Given the description of an element on the screen output the (x, y) to click on. 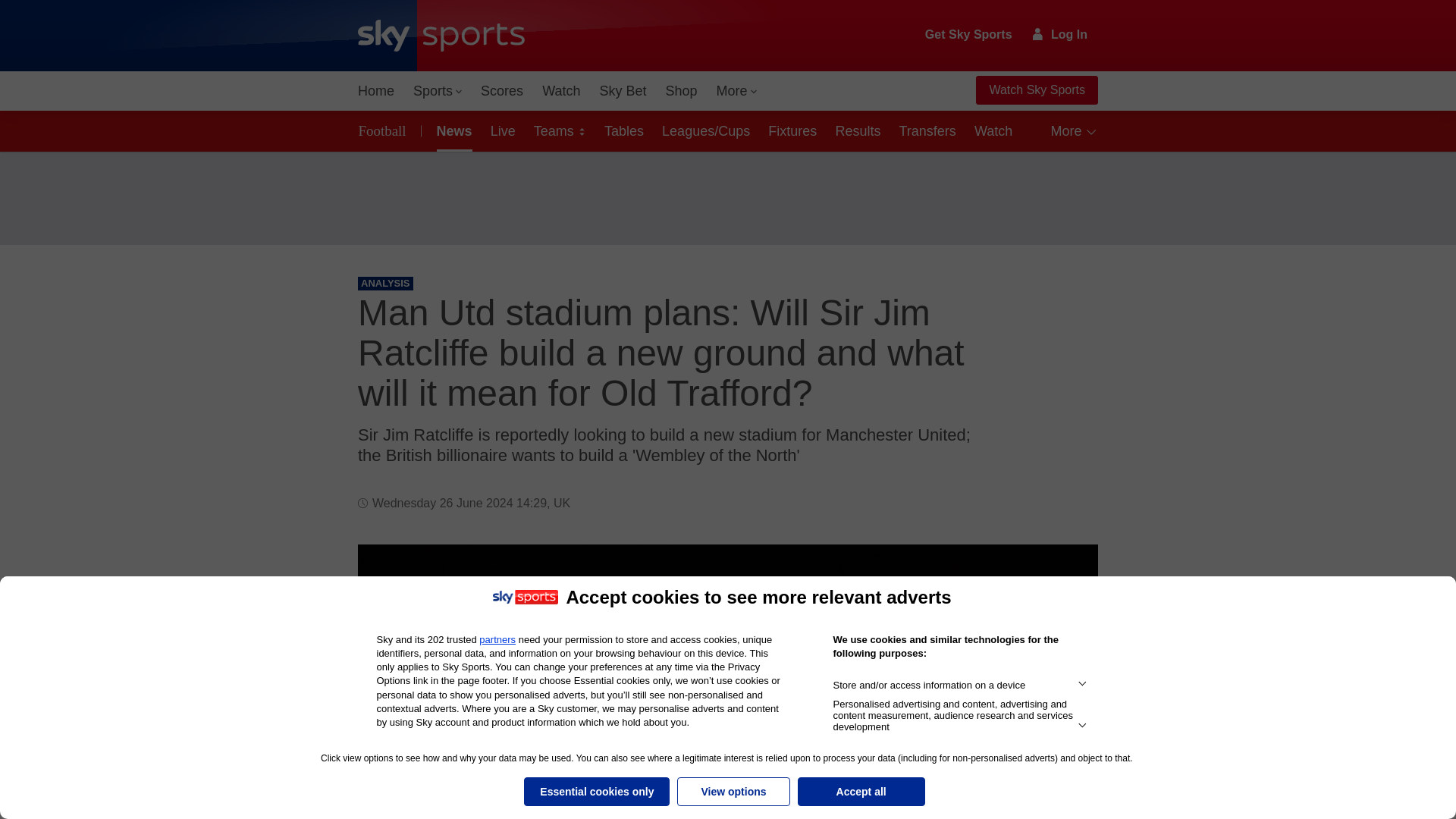
More (736, 91)
Get Sky Sports (968, 34)
Home (375, 91)
Football (385, 130)
Log In (1060, 33)
News (451, 130)
Watch Sky Sports (1036, 90)
Shop (681, 91)
Scores (502, 91)
Share (1067, 574)
Sports (437, 91)
Sky Bet (622, 91)
Watch (561, 91)
